Given the description of an element on the screen output the (x, y) to click on. 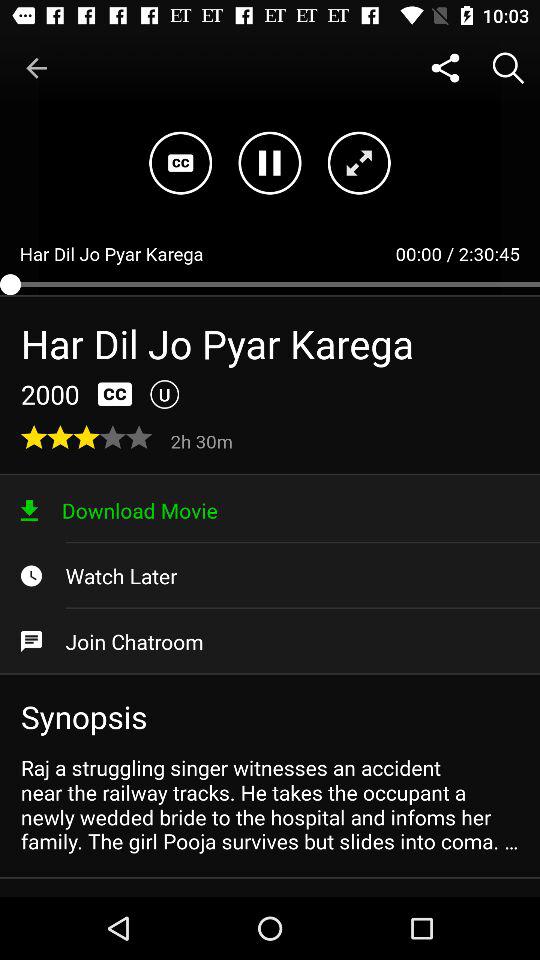
launch the item above join chatroom (270, 575)
